Given the description of an element on the screen output the (x, y) to click on. 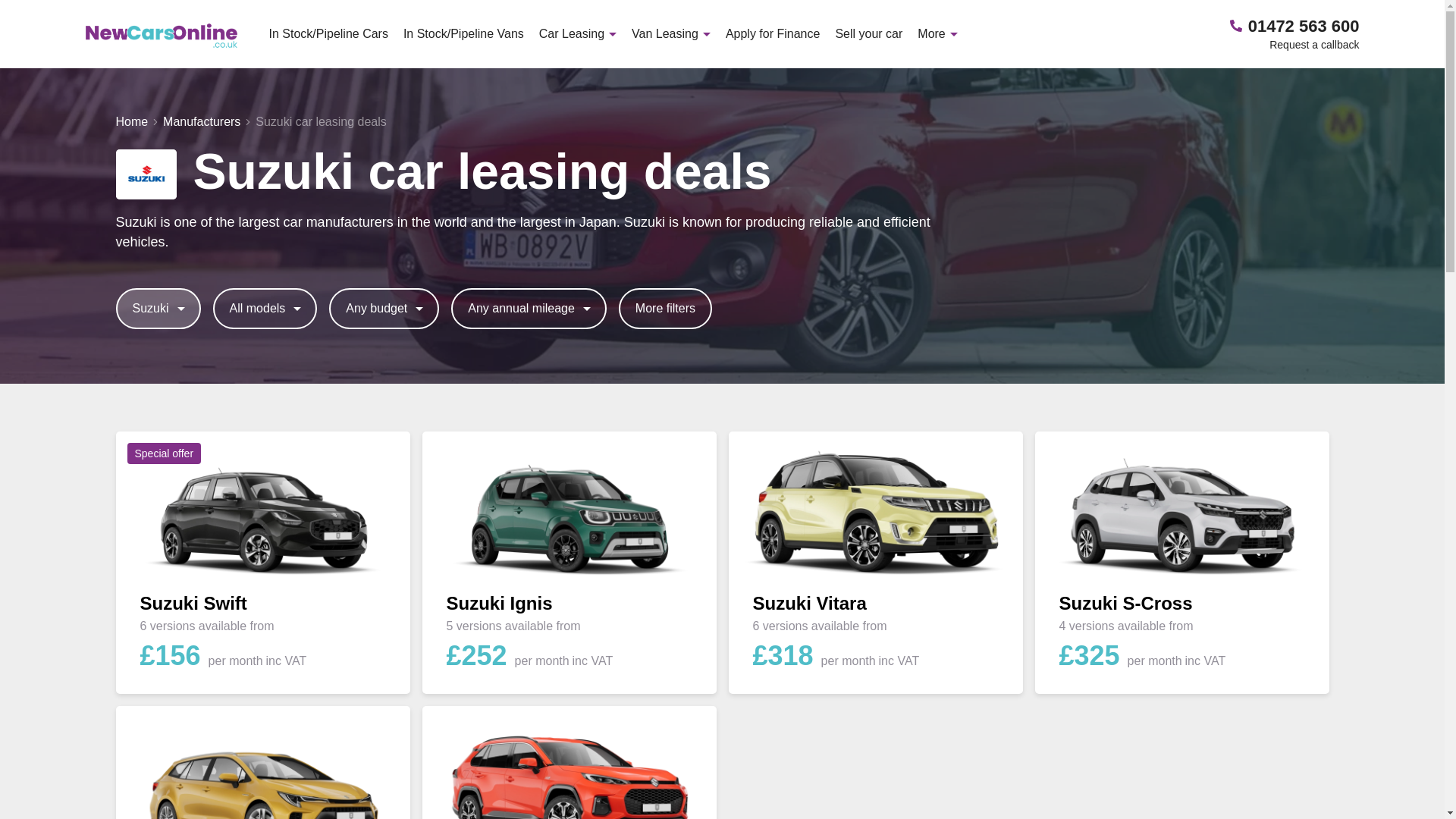
Sell your car (868, 33)
Apply for Finance (772, 33)
